Given the description of an element on the screen output the (x, y) to click on. 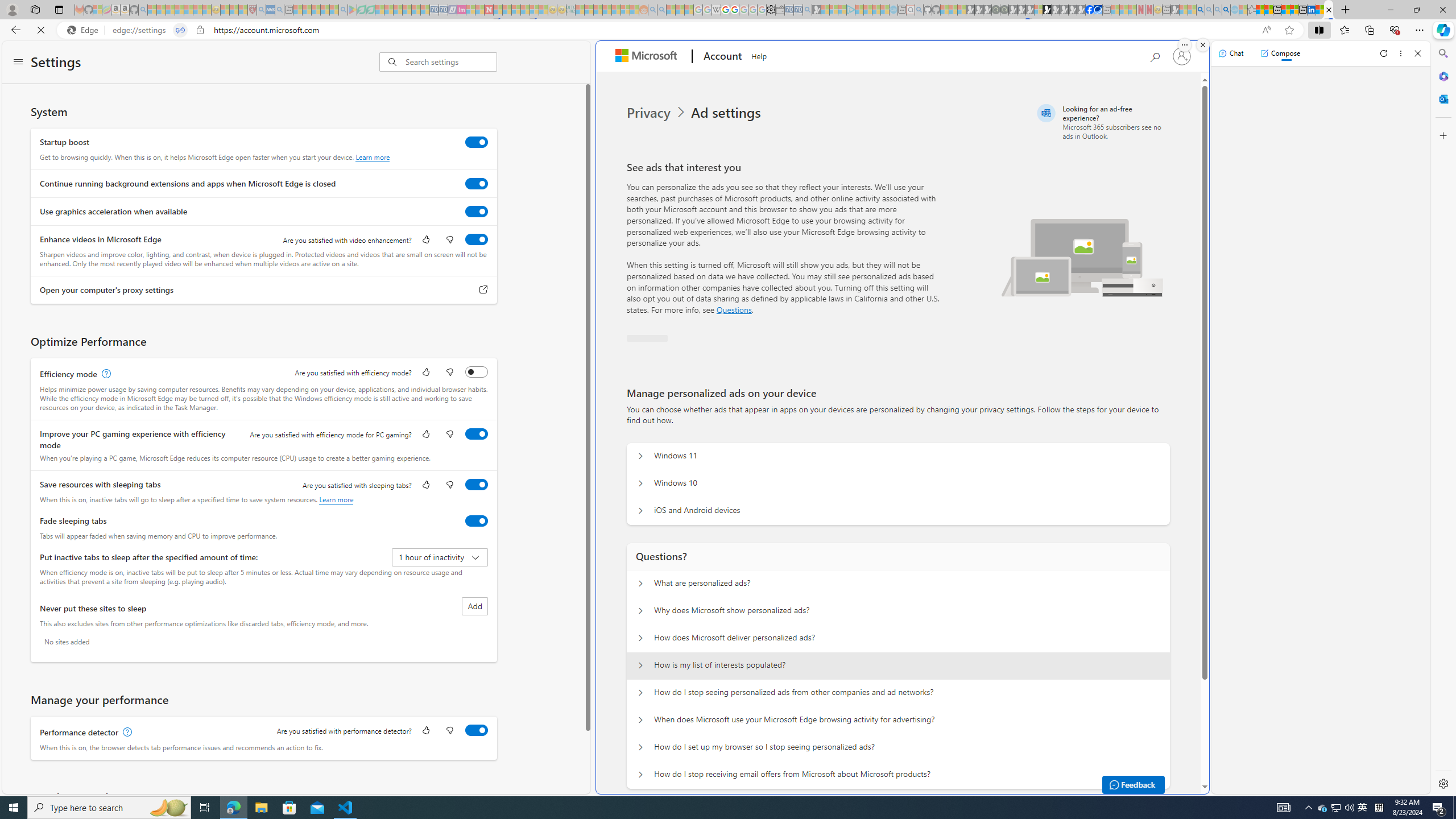
Microsoft Start Gaming - Sleeping (815, 9)
LinkedIn (1311, 9)
DITOGAMES AG Imprint - Sleeping (570, 9)
Learn more (335, 499)
Use graphics acceleration when available (476, 211)
Cheap Hotels - Save70.com - Sleeping (442, 9)
Microsoft (648, 56)
